Given the description of an element on the screen output the (x, y) to click on. 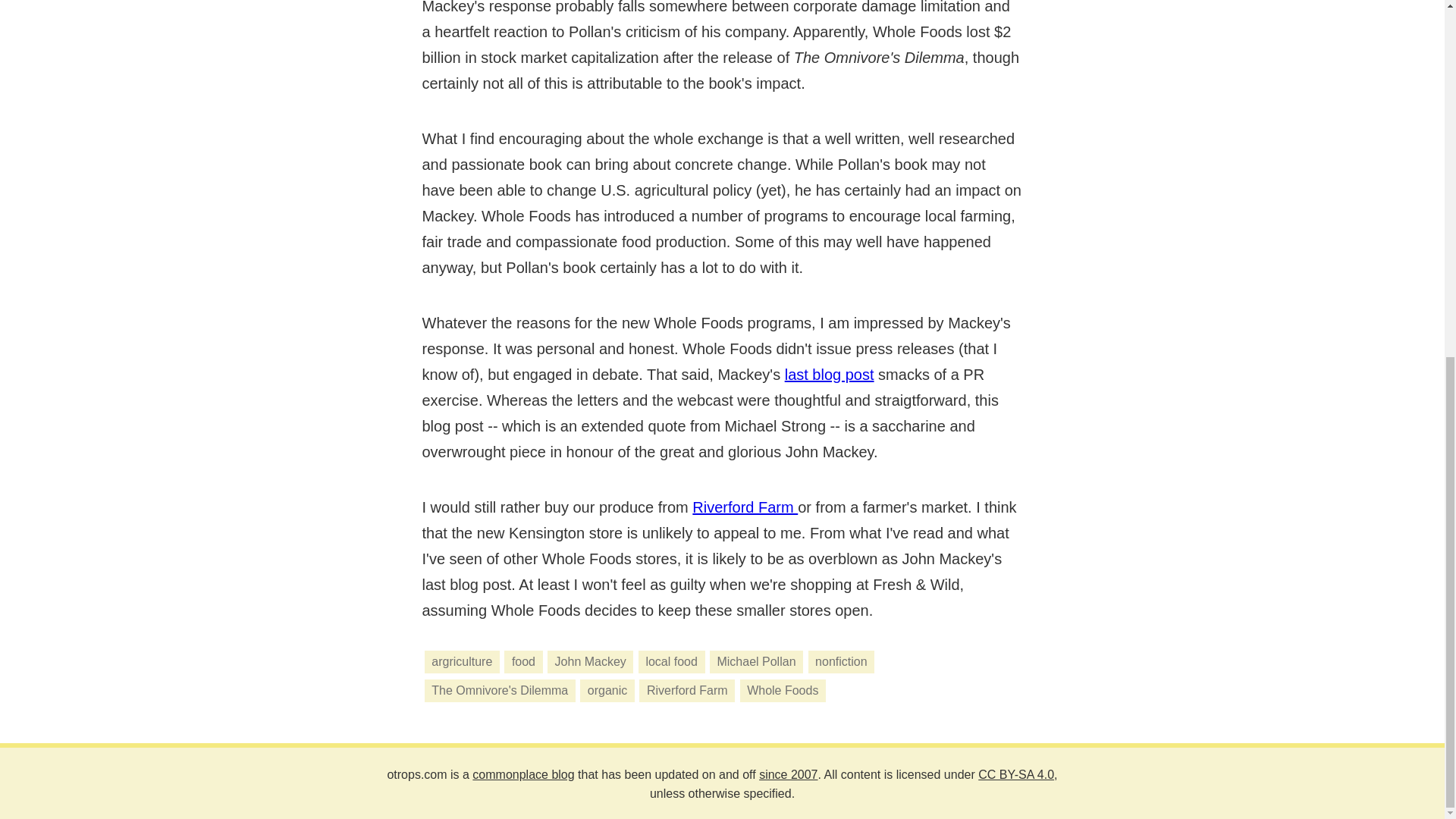
Whole Foods (782, 690)
Riverford Farm (745, 506)
last blog post (829, 374)
food (522, 661)
Michael Pollan (756, 661)
organic (606, 690)
Riverford Farm (687, 690)
since 2007 (787, 774)
nonfiction (841, 661)
The Omnivore's Dilemma (500, 690)
